Given the description of an element on the screen output the (x, y) to click on. 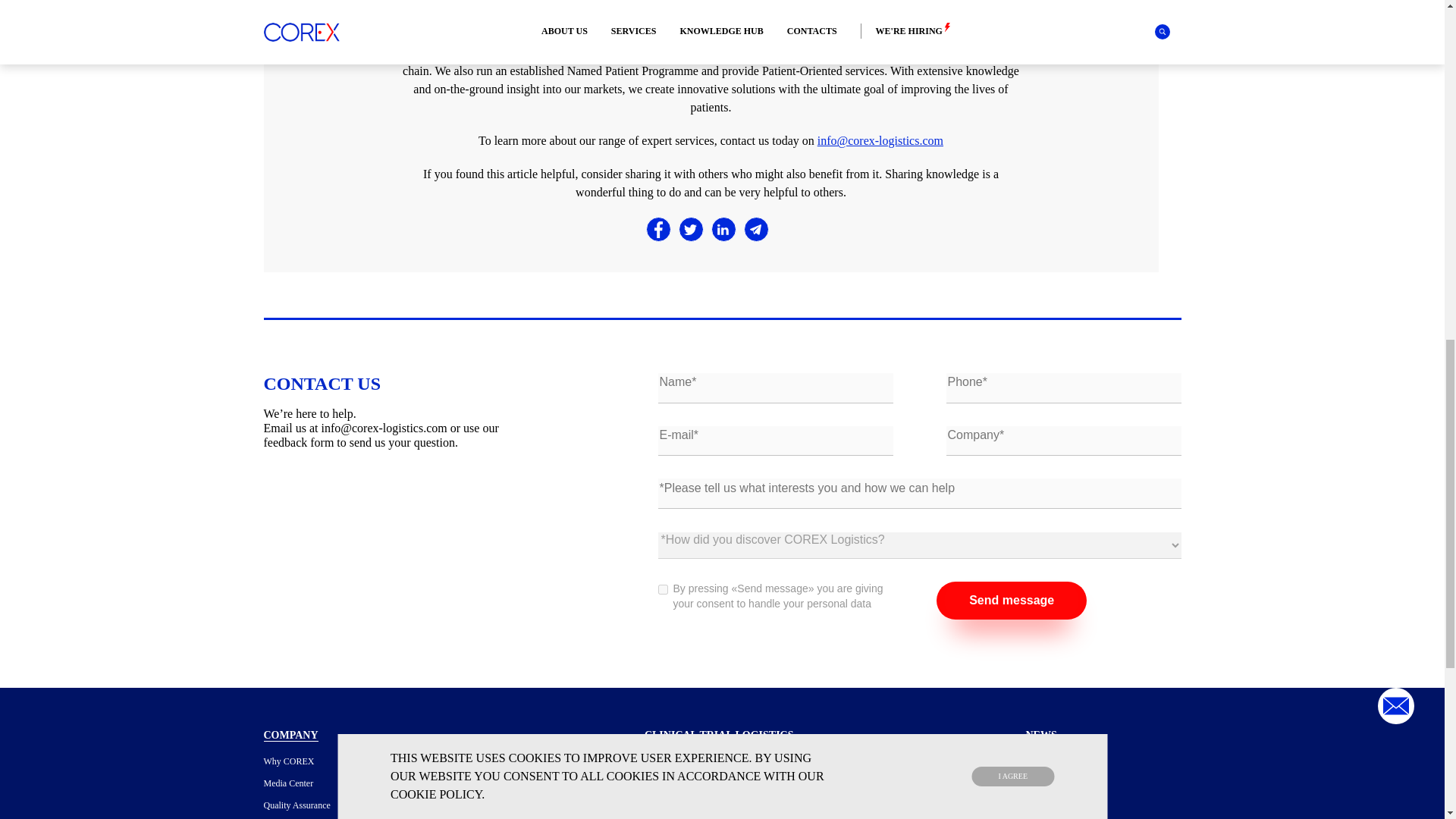
Yes (663, 589)
